Given the description of an element on the screen output the (x, y) to click on. 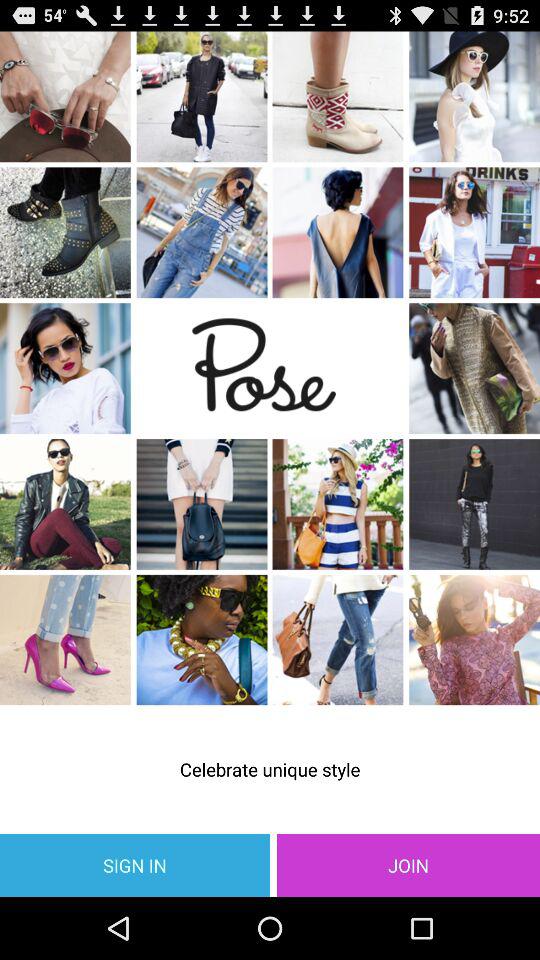
choose the join button (408, 864)
